Given the description of an element on the screen output the (x, y) to click on. 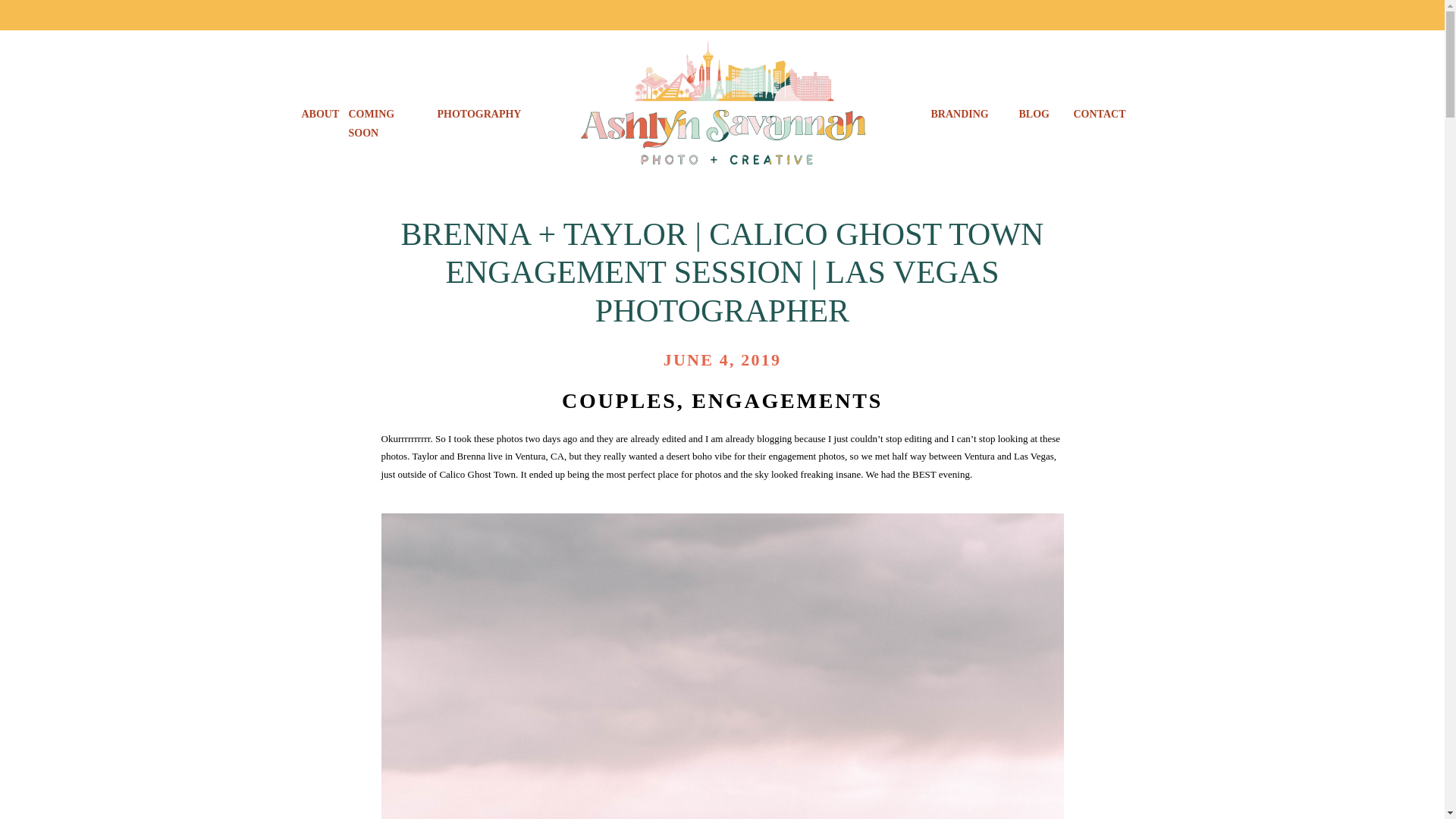
BLOG (1032, 114)
COMING SOON (387, 114)
ENGAGEMENTS (786, 400)
BRANDING (962, 114)
COUPLES (619, 400)
PHOTOGRAPHY (477, 114)
ABOUT (318, 114)
CONTACT (1101, 114)
